Given the description of an element on the screen output the (x, y) to click on. 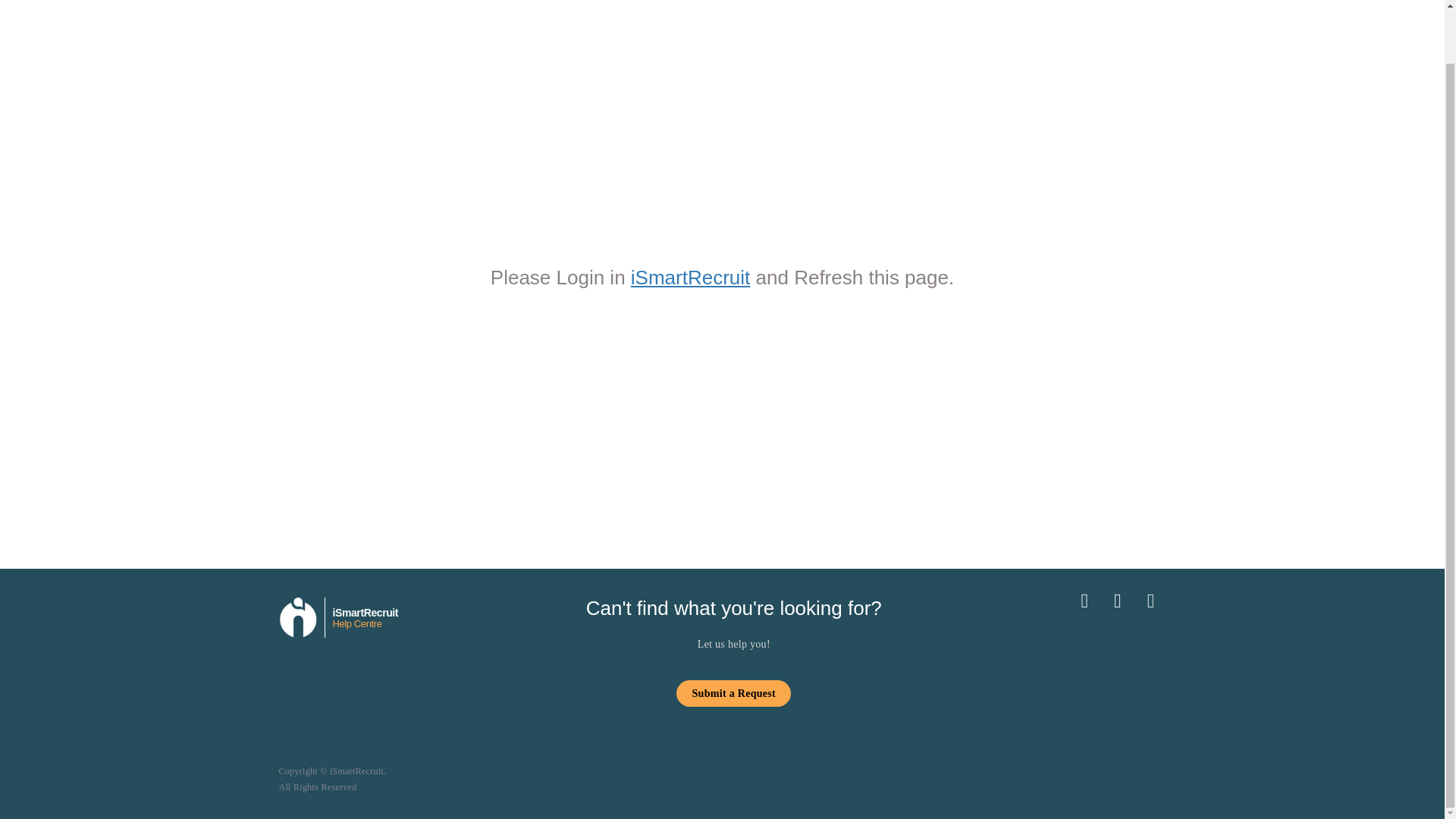
Submit a Request (733, 693)
iSmartRecruit (689, 276)
